Given the description of an element on the screen output the (x, y) to click on. 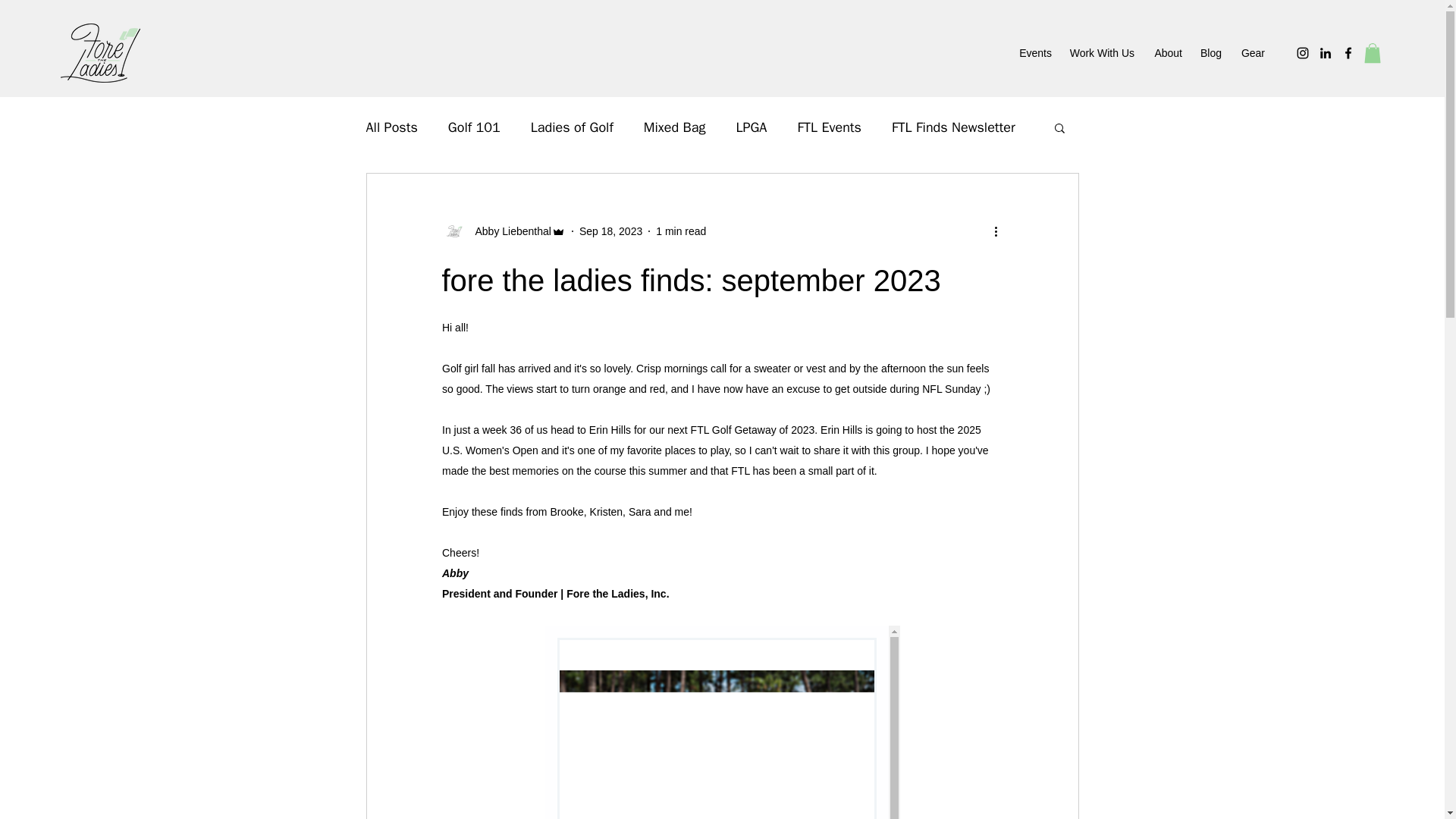
Golf 101 (474, 126)
All Posts (390, 126)
FTL Finds Newsletter (952, 126)
FTL Events (828, 126)
Work With Us (1100, 52)
remote content (721, 722)
Events (1034, 52)
Ladies of Golf (571, 126)
Blog (1208, 52)
Mixed Bag (674, 126)
